Given the description of an element on the screen output the (x, y) to click on. 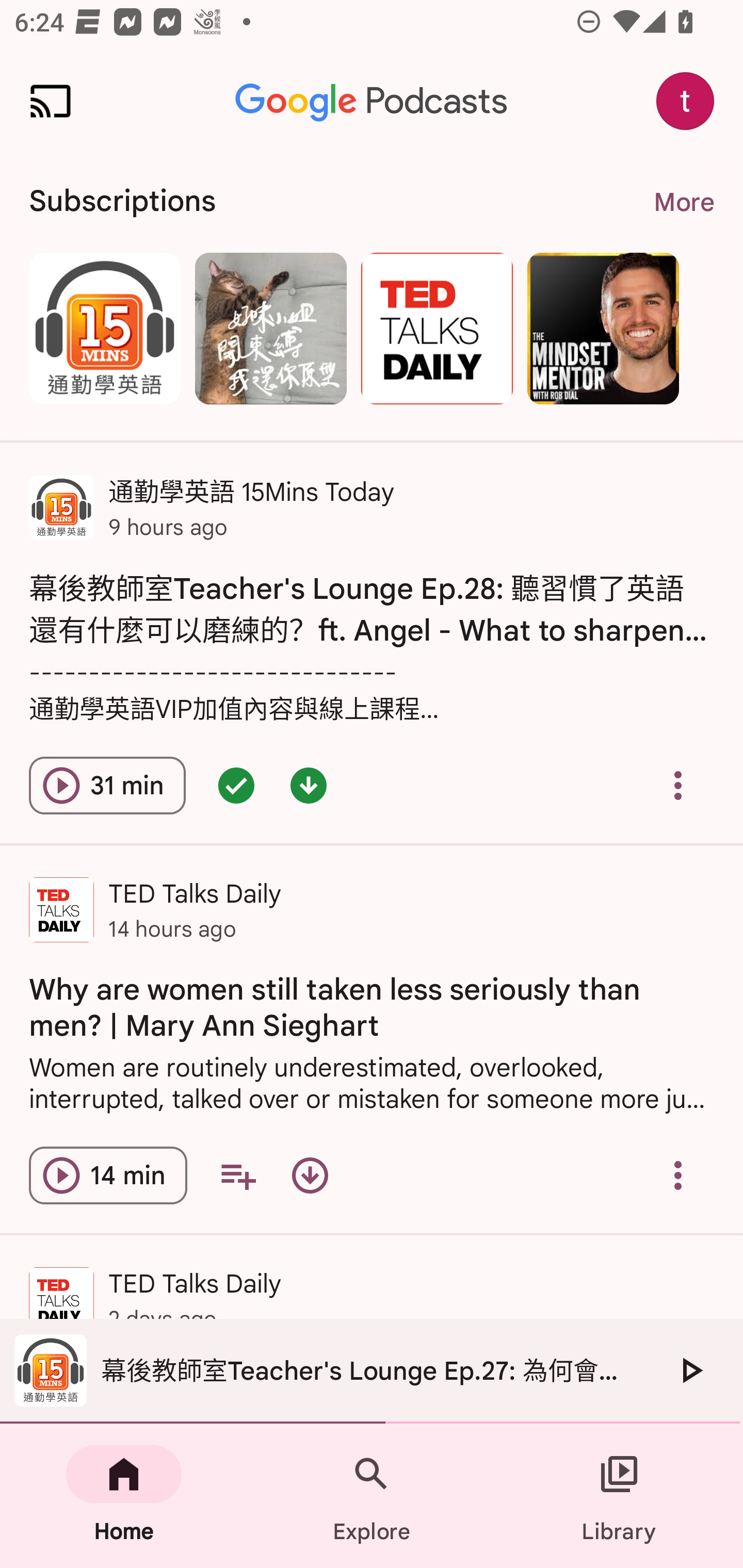
Cast. Disconnected (50, 101)
More More. Navigate to subscriptions page. (683, 202)
通勤學英語 15Mins Today (104, 328)
好味小姐開束縛我還你原形 (270, 328)
TED Talks Daily (436, 328)
The Mindset Mentor (603, 328)
Episode queued - double tap for options (235, 785)
Episode downloaded - double tap for options (308, 785)
Overflow menu (677, 785)
Add to your queue (238, 1175)
Download episode (310, 1175)
Overflow menu (677, 1175)
Play (690, 1370)
Explore (371, 1495)
Library (619, 1495)
